Given the description of an element on the screen output the (x, y) to click on. 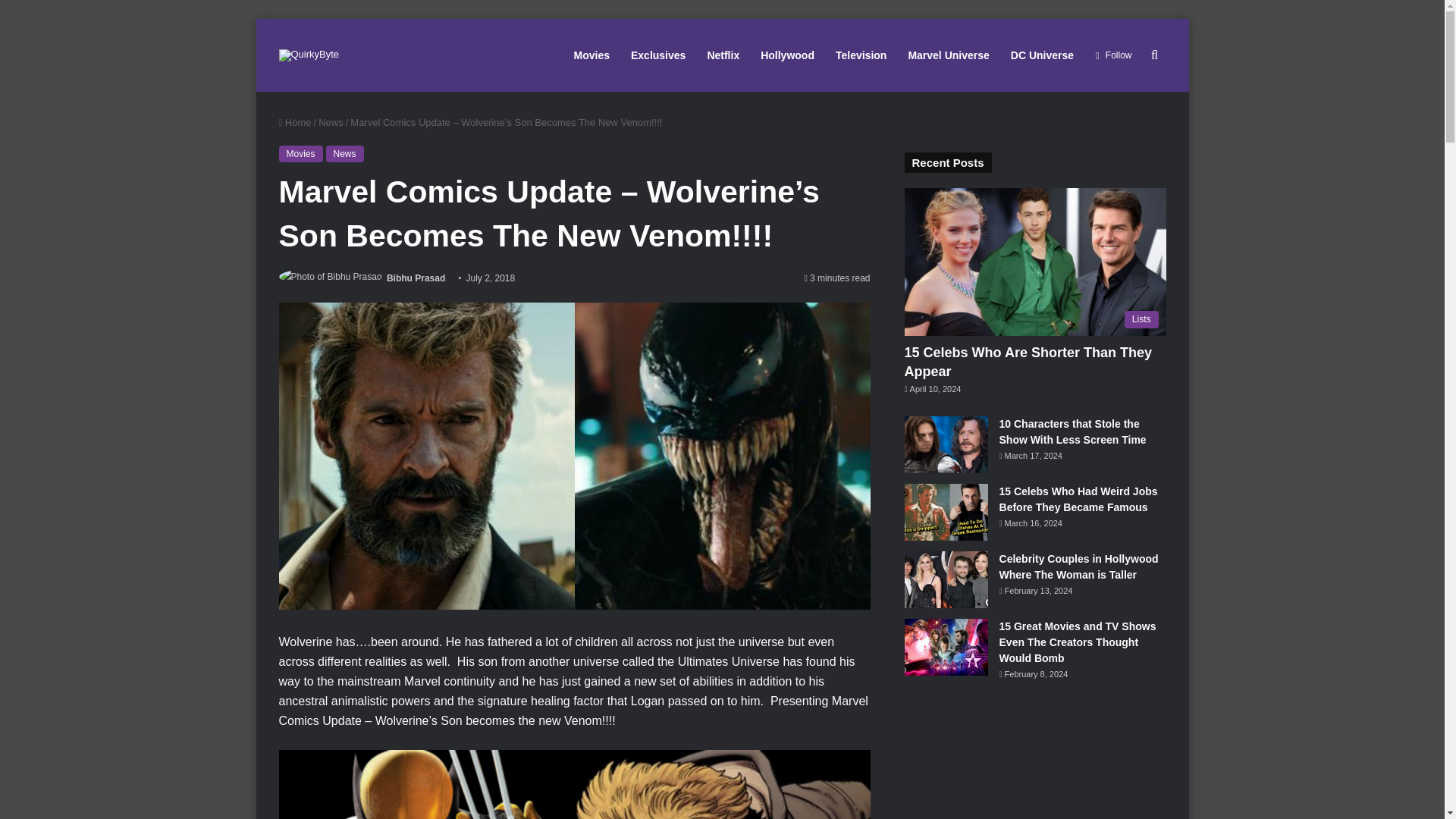
Television (860, 54)
QuirkyByte (309, 55)
Movies (301, 153)
Bibhu Prasad (416, 277)
Bibhu Prasad (416, 277)
Exclusives (657, 54)
Marvel Universe (947, 54)
Hollywood (787, 54)
News (330, 122)
DC Universe (1042, 54)
News (345, 153)
Home (295, 122)
Marvel Universe (947, 54)
